Given the description of an element on the screen output the (x, y) to click on. 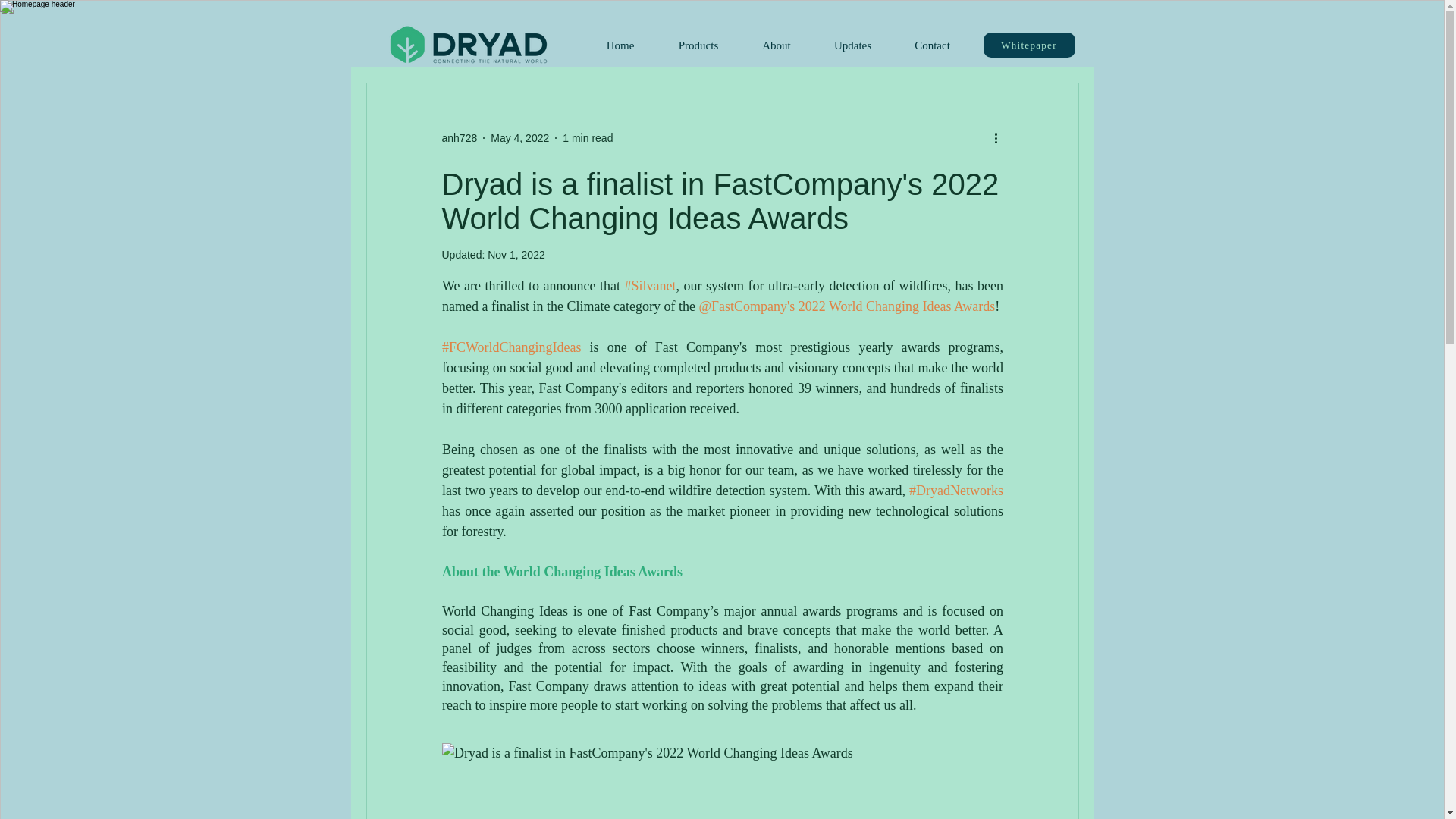
1 min read (587, 137)
May 4, 2022 (519, 137)
Whitepaper (1028, 44)
anh728 (459, 138)
Nov 1, 2022 (515, 254)
Home (619, 45)
